Given the description of an element on the screen output the (x, y) to click on. 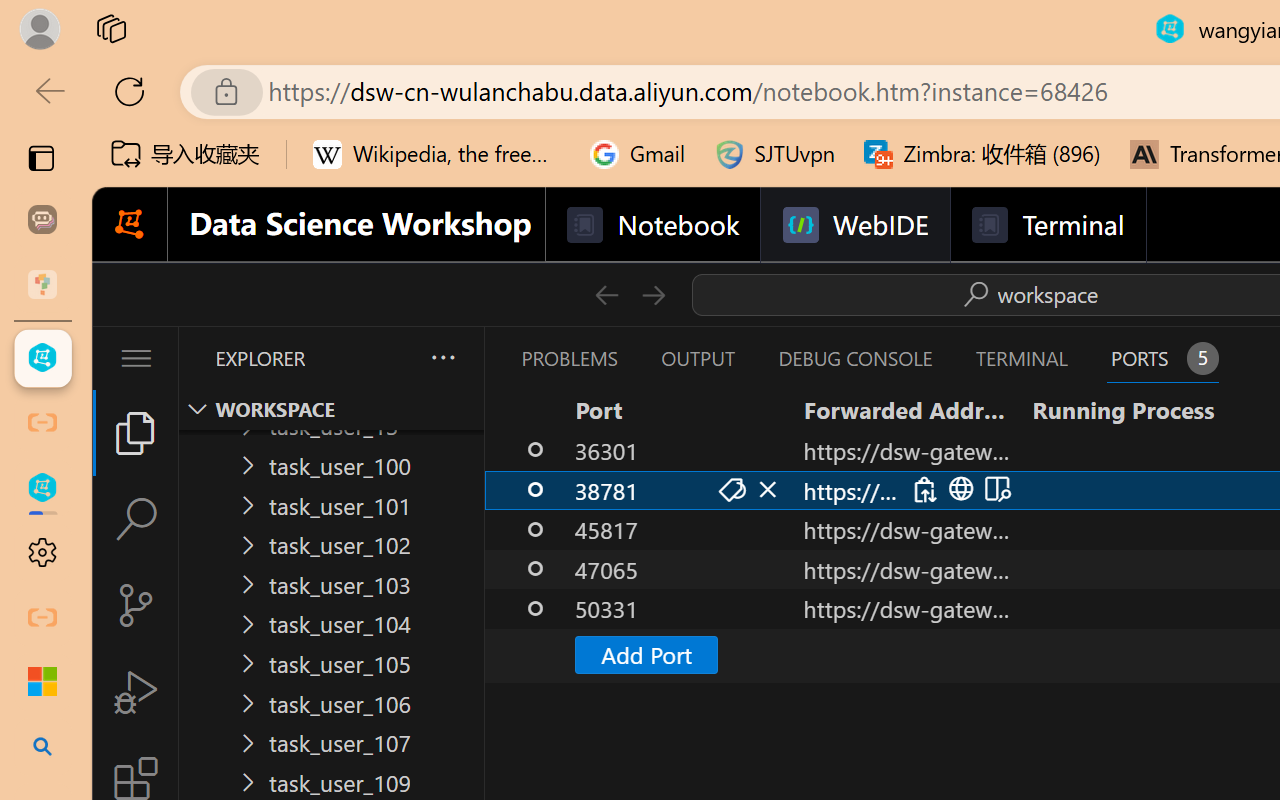
Go Forward (Alt+RightArrow) (652, 294)
Debug Console (Ctrl+Shift+Y) (854, 358)
Class: menubar compact overflow-menu-only (135, 358)
Explorer (Ctrl+Shift+E) (135, 432)
Search (Ctrl+Shift+F) (135, 519)
Copy Local Address (Ctrl+C) (923, 489)
Output (Ctrl+Shift+U) (696, 358)
Class: actions-container (958, 489)
Terminal (1046, 225)
Go Back (Alt+LeftArrow) (605, 294)
